Given the description of an element on the screen output the (x, y) to click on. 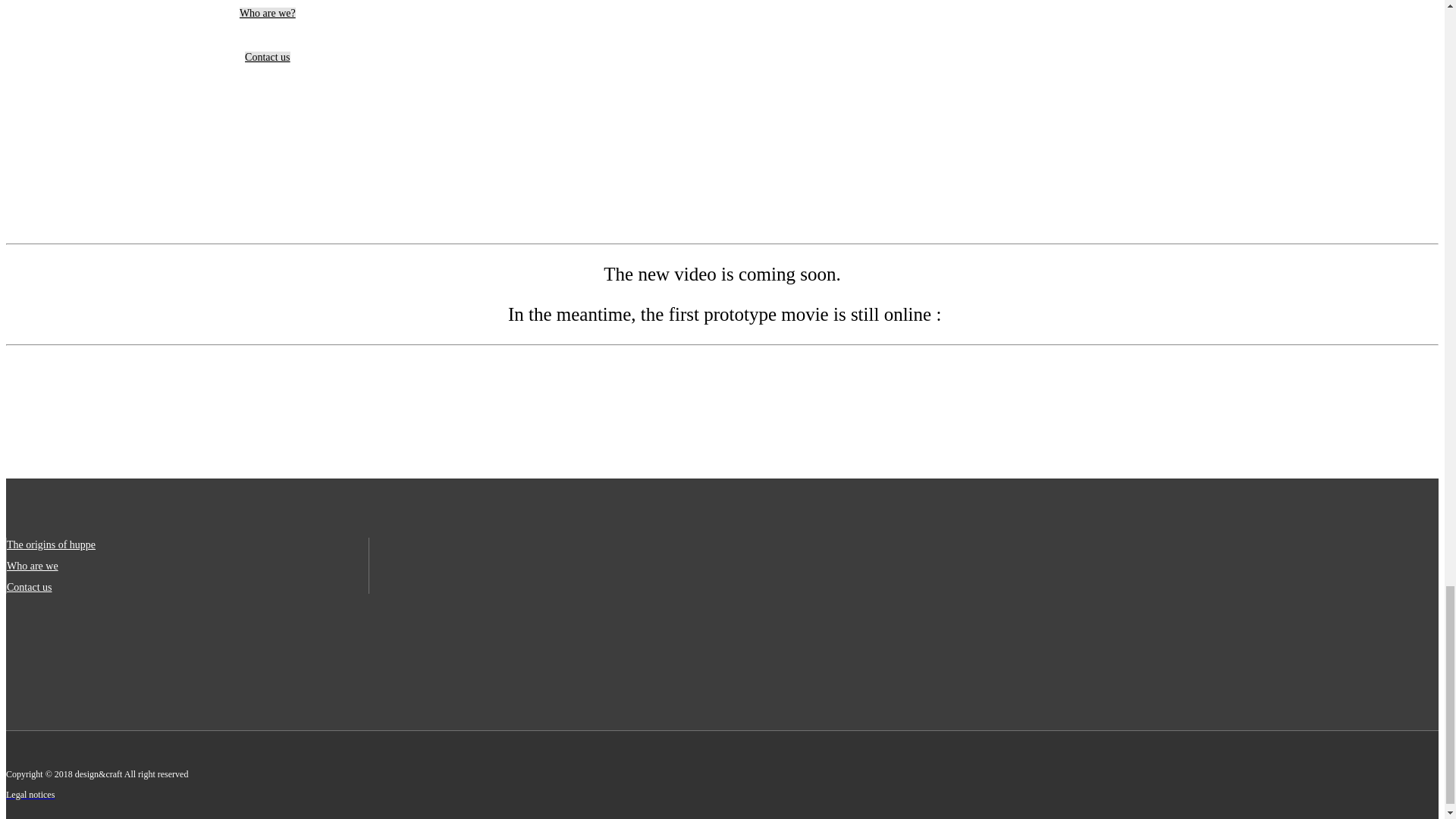
Legal notices (30, 793)
Who are we? (267, 12)
Contact us (29, 586)
Contact us (266, 57)
The origins of huppe (51, 543)
Who are we (32, 564)
